Given the description of an element on the screen output the (x, y) to click on. 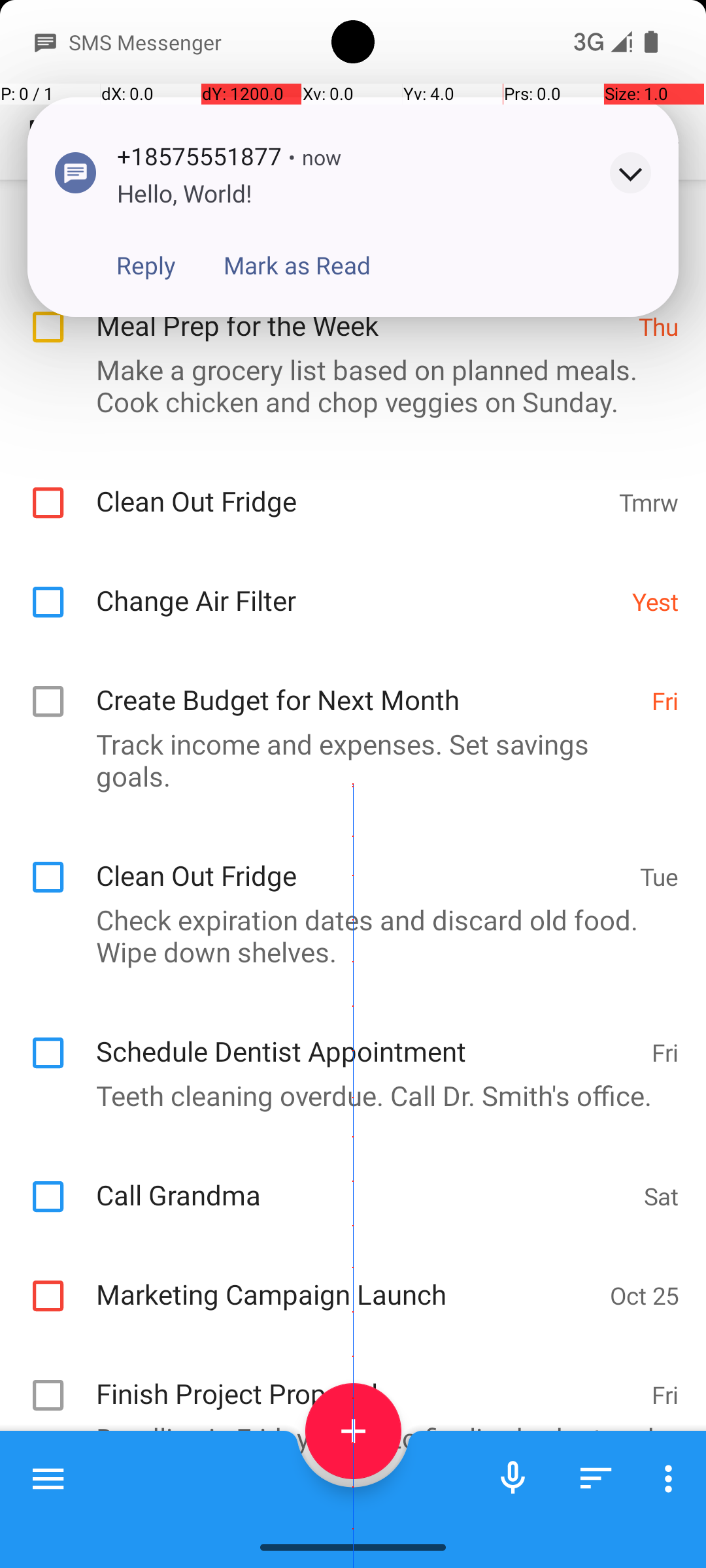
Marketing Campaign Launch Element type: android.widget.TextView (346, 1279)
Oct 25 Element type: android.widget.TextView (644, 1294)
